Given the description of an element on the screen output the (x, y) to click on. 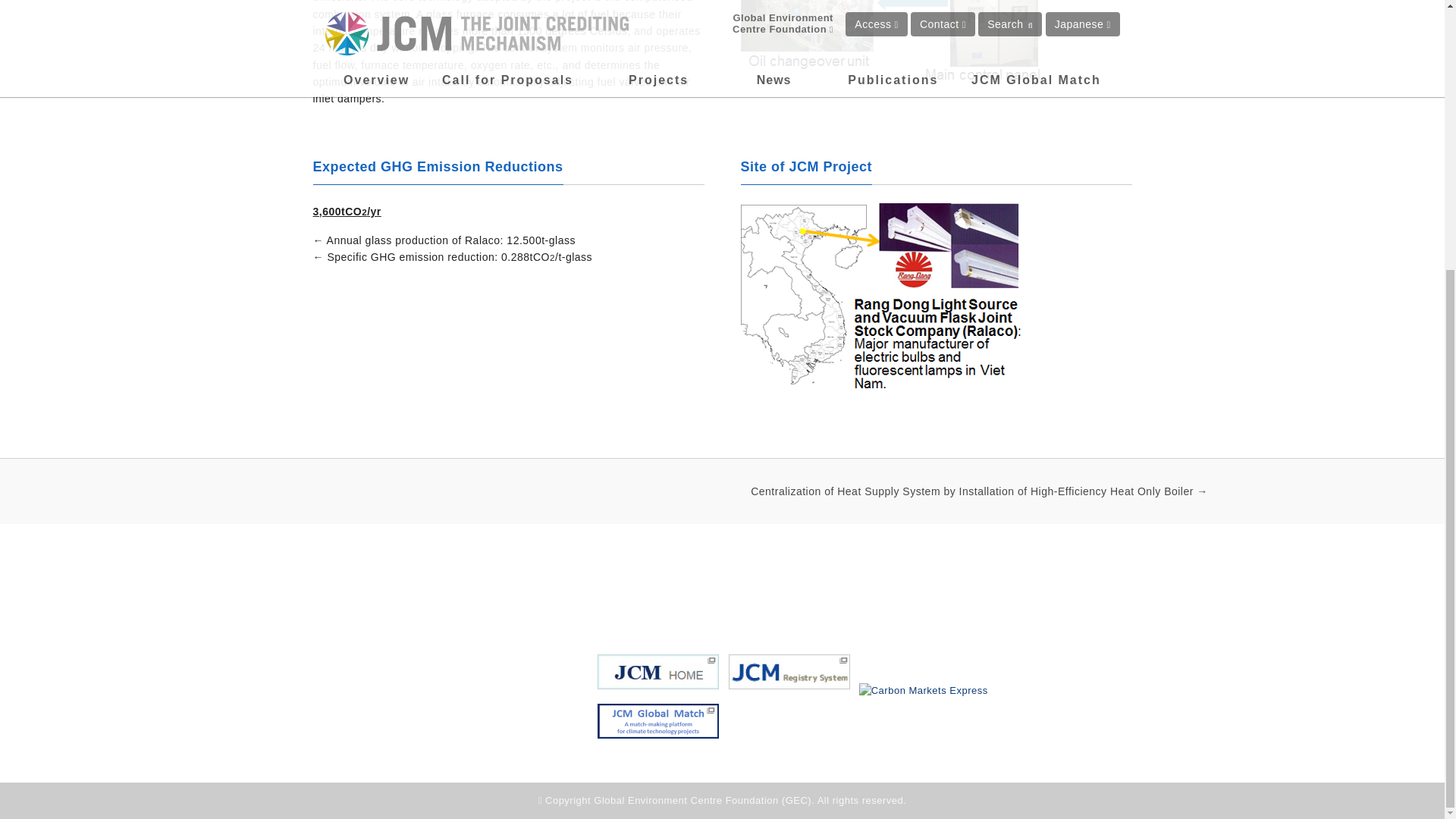
Contact (999, 594)
Publications (816, 594)
Projects (742, 594)
Home (613, 594)
Overview (675, 594)
Call for Proposals (913, 594)
